Given the description of an element on the screen output the (x, y) to click on. 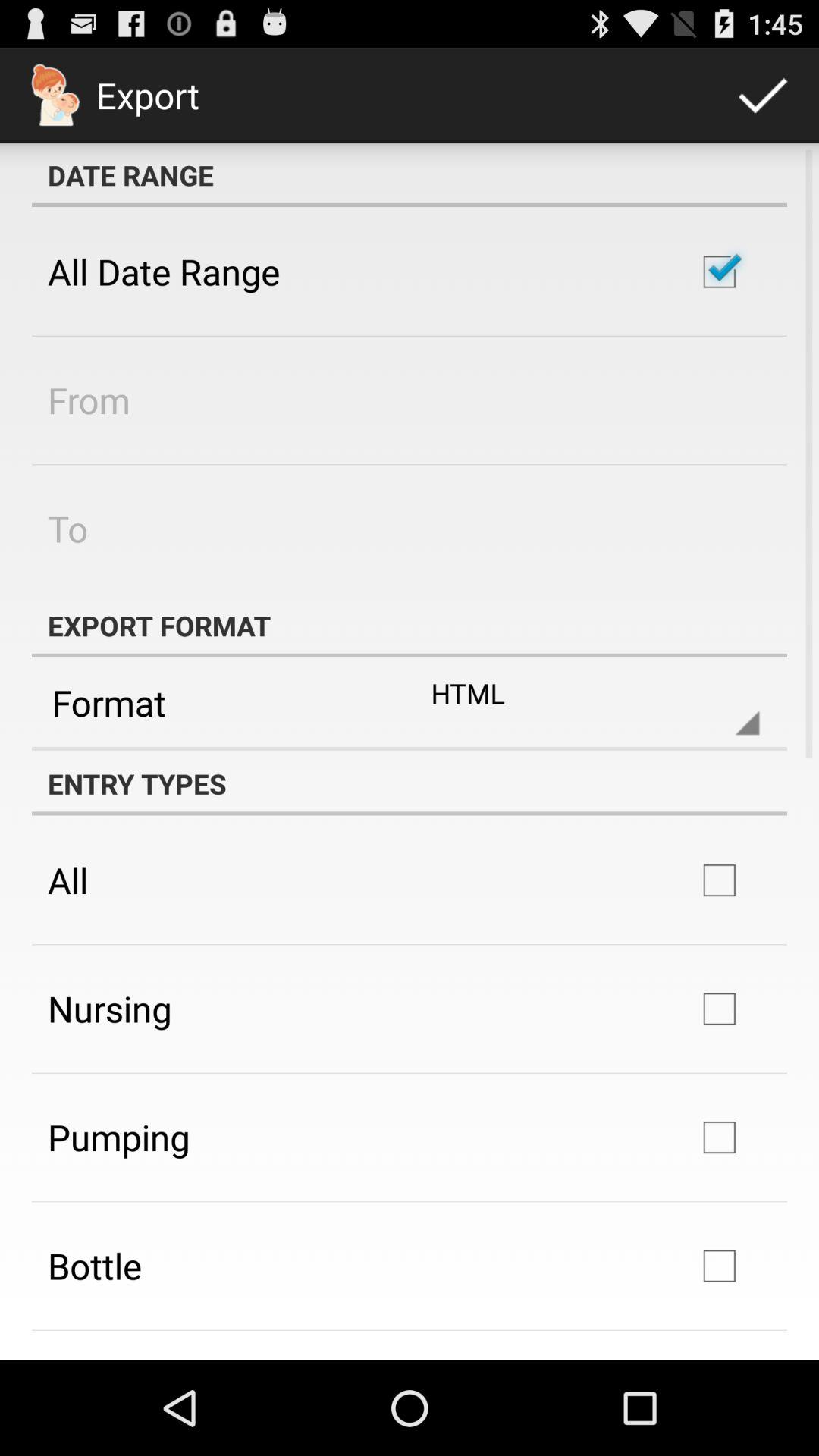
flip to the export format app (409, 625)
